Given the description of an element on the screen output the (x, y) to click on. 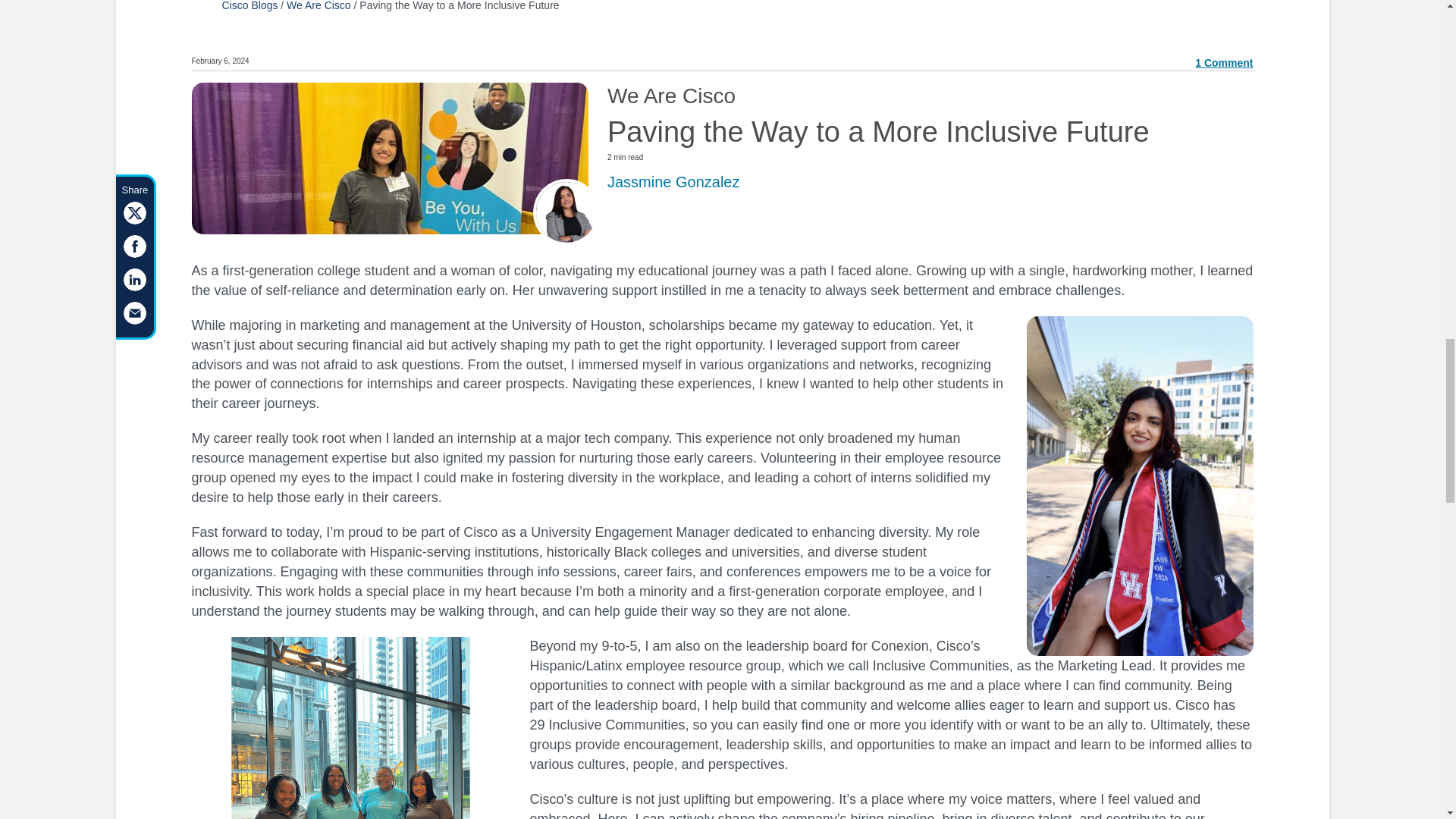
Cisco Blogs (249, 5)
Posts by Jassmine Gonzalez (673, 180)
Jassmine Gonzalez (673, 180)
We Are Cisco (318, 5)
